Given the description of an element on the screen output the (x, y) to click on. 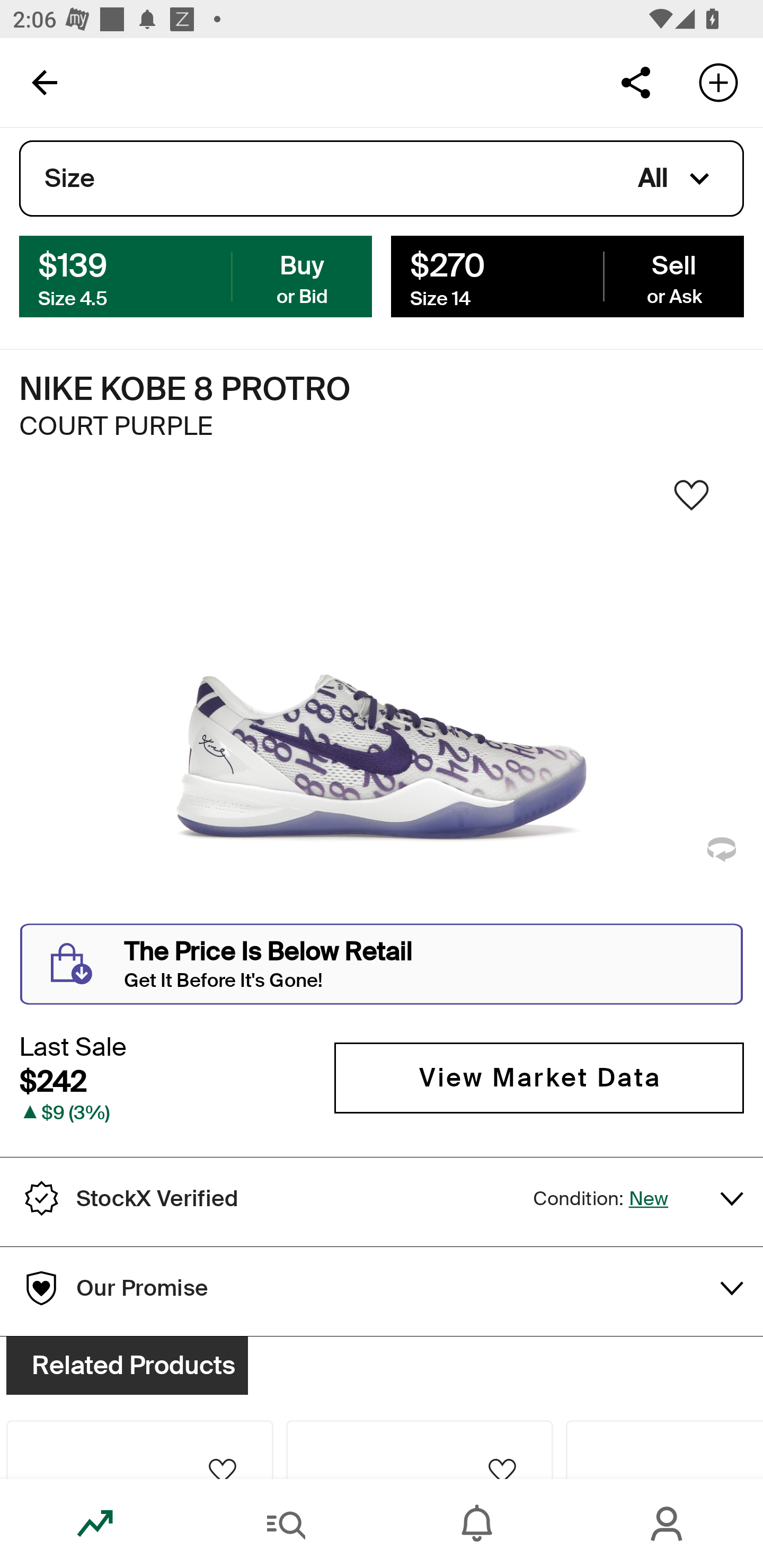
Share (635, 81)
Add (718, 81)
Size All (381, 178)
$139 Buy Size 4.5 or Bid (195, 275)
$270 Sell Size 14 or Ask (566, 275)
Sneaker Image (381, 699)
View Market Data (538, 1077)
Search (285, 1523)
Inbox (476, 1523)
Account (667, 1523)
